Given the description of an element on the screen output the (x, y) to click on. 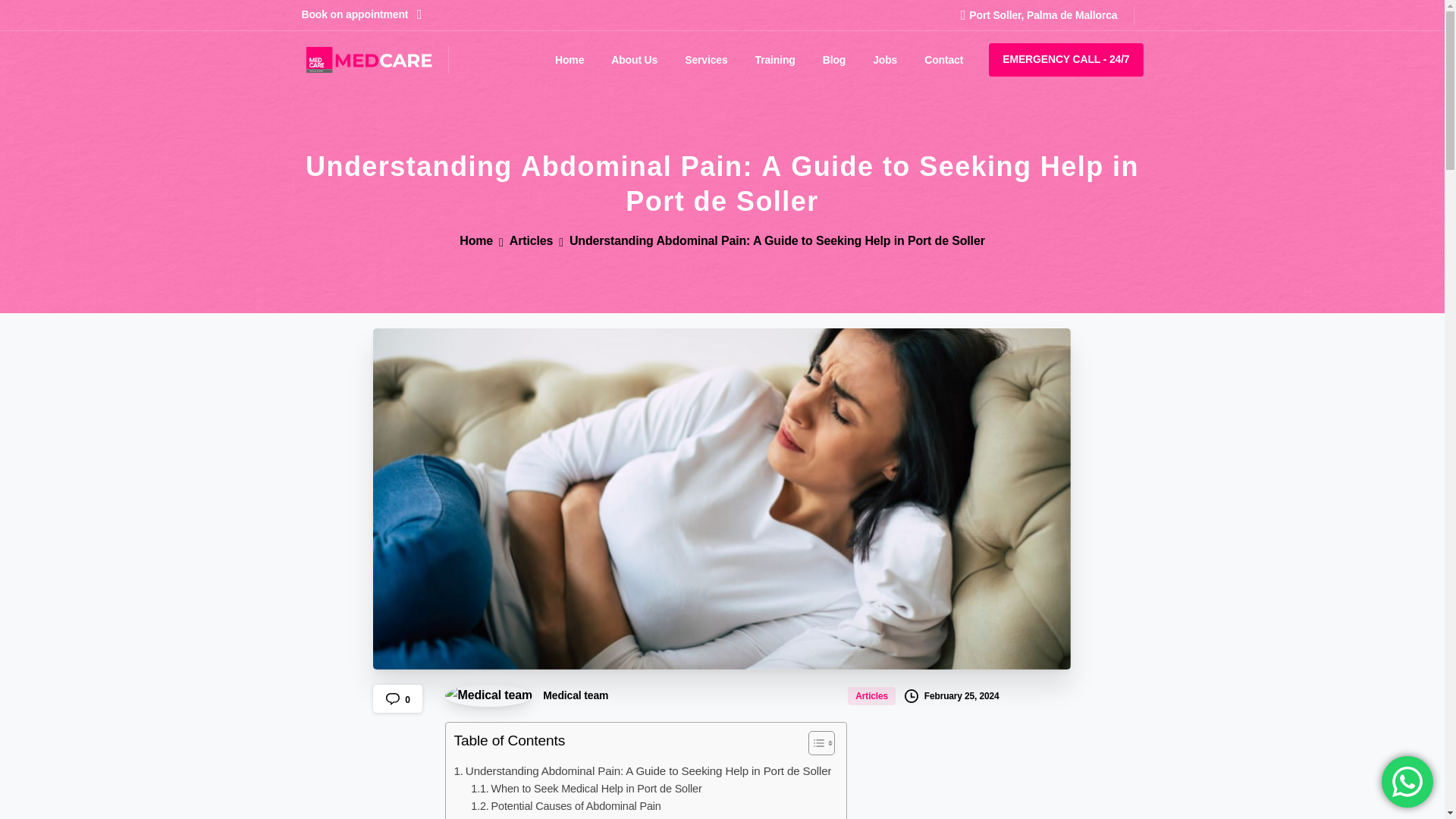
When to Seek Medical Help in Port de Soller (585, 788)
Services (705, 59)
Blog (833, 59)
Managing Abdominal Pain at Home (564, 816)
Training (775, 59)
Articles (872, 694)
Contact (943, 59)
February 25, 2024 (951, 695)
Managing Abdominal Pain at Home (564, 816)
0 (397, 698)
Medical team (526, 695)
Home (568, 59)
Blog (833, 59)
About Us (634, 59)
